Given the description of an element on the screen output the (x, y) to click on. 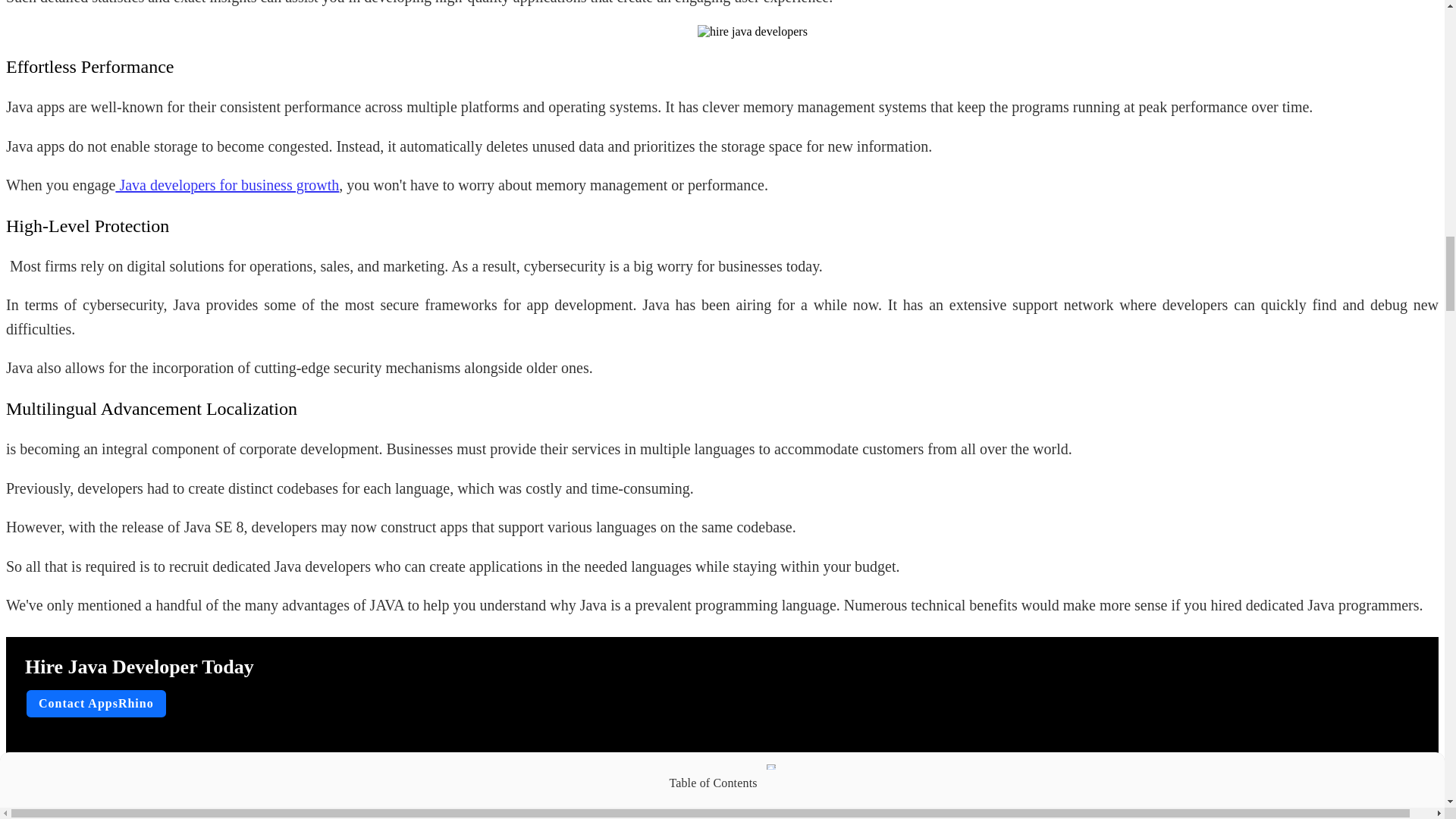
Contact AppsRhino (95, 703)
Java developers for business growth (227, 184)
